Given the description of an element on the screen output the (x, y) to click on. 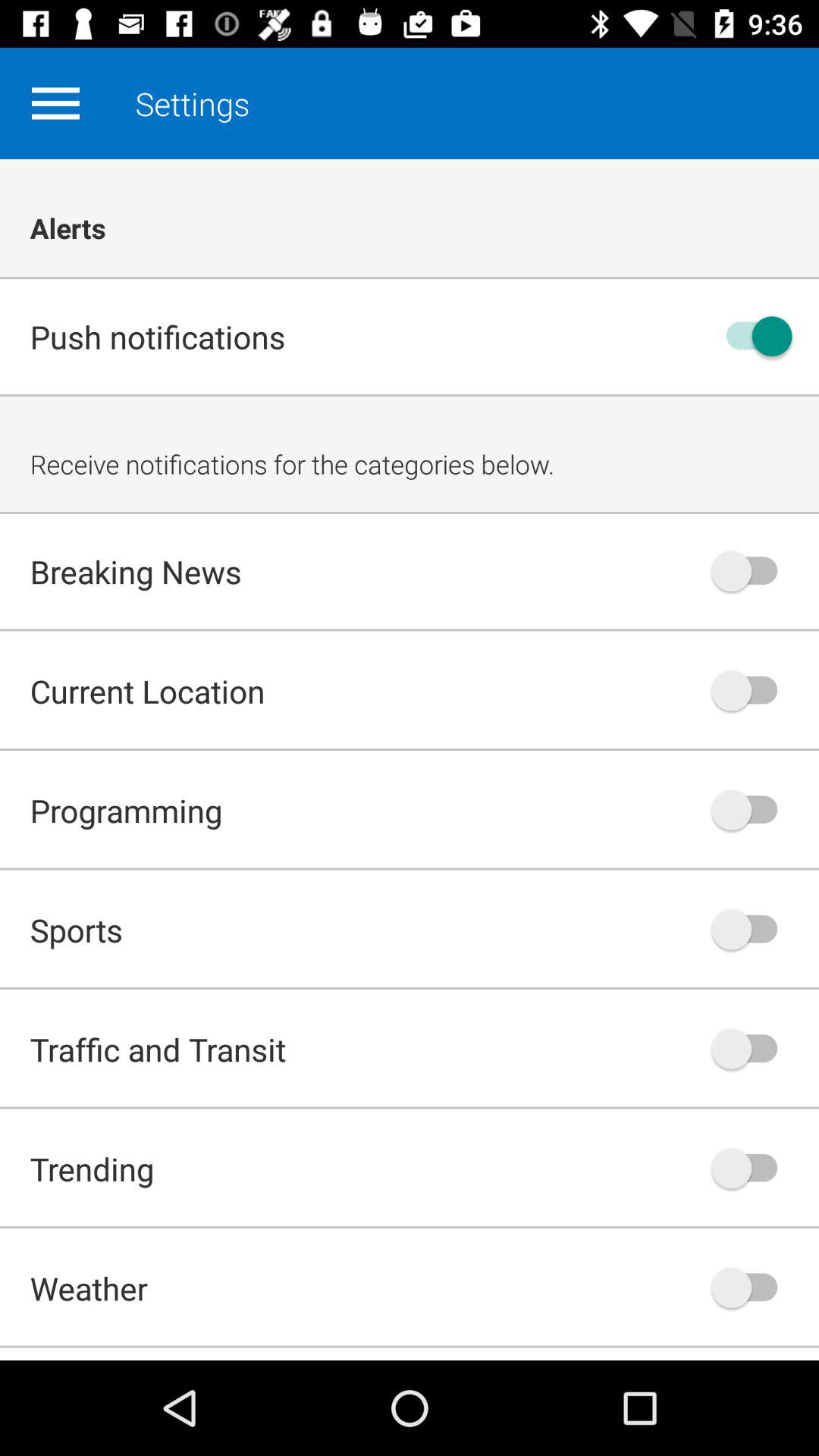
turn on programming notifications (751, 810)
